Given the description of an element on the screen output the (x, y) to click on. 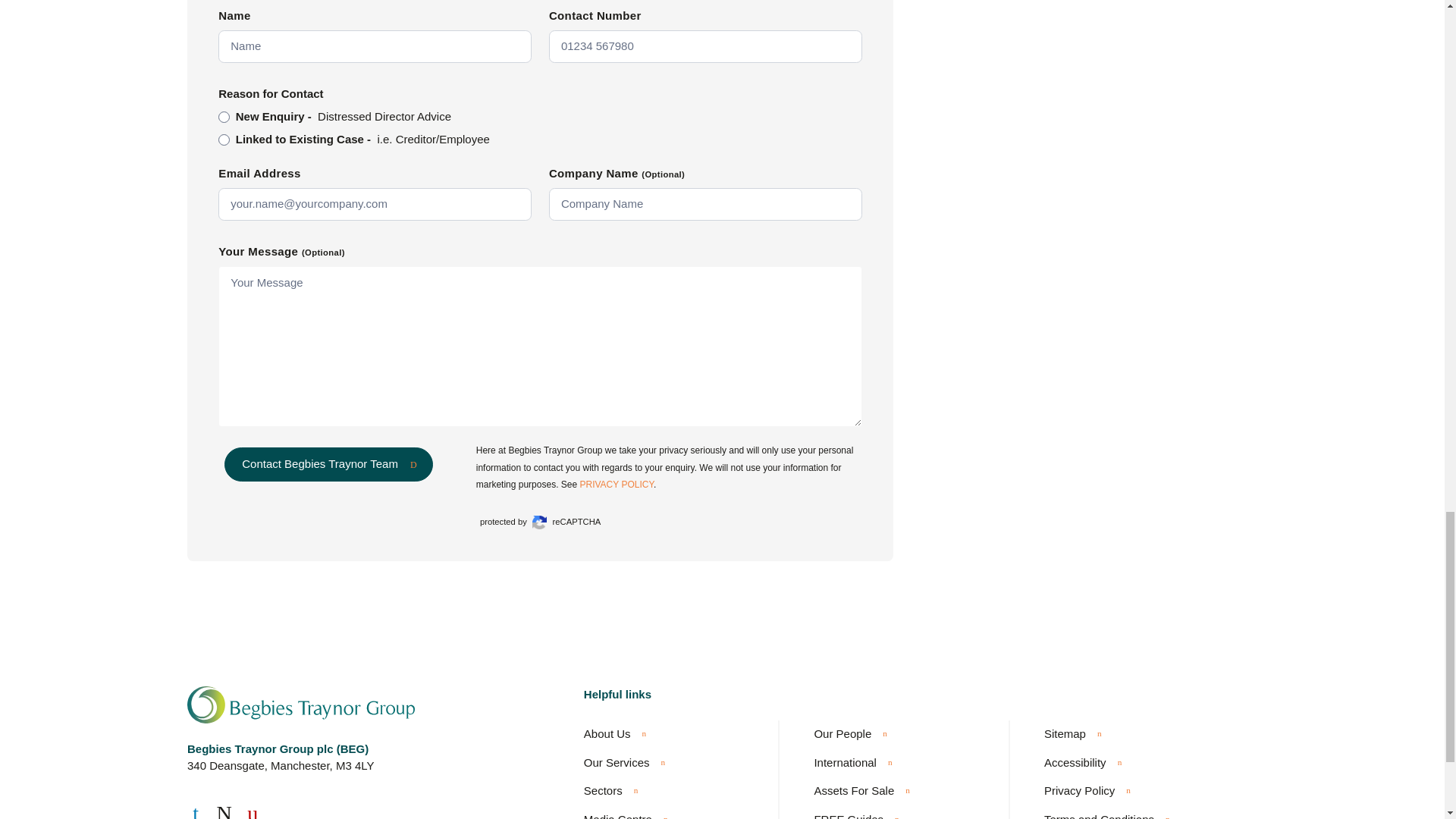
New Enquiry - Distressed Director Advice (224, 116)
